Given the description of an element on the screen output the (x, y) to click on. 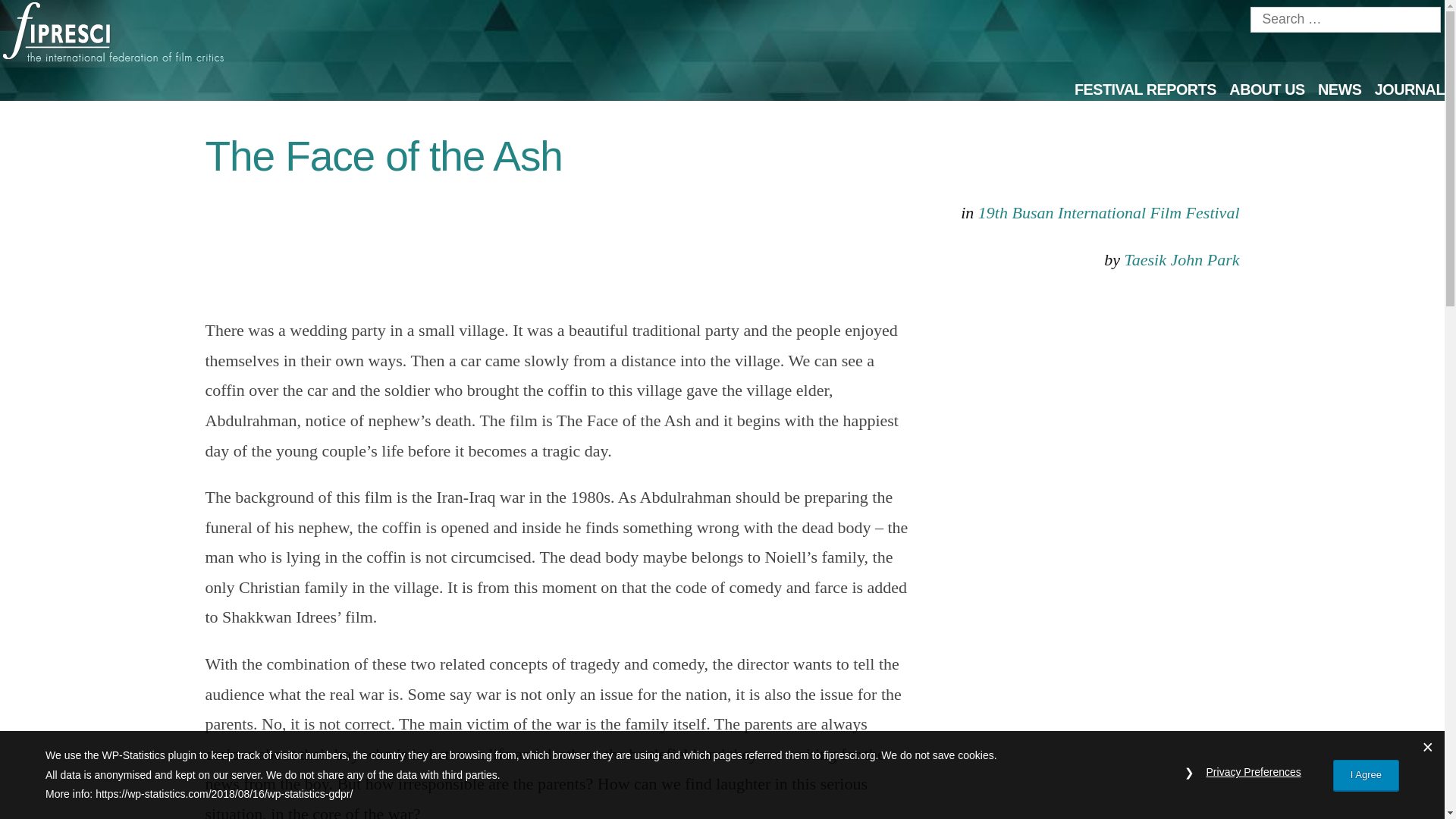
19th Busan International Film Festival (1109, 212)
NEWS (1339, 89)
Taesik John Park (1182, 259)
Search (41, 13)
Privacy Preferences (1253, 772)
I Agree (1366, 775)
FESTIVAL REPORTS (1144, 89)
ABOUT US (1266, 89)
